Given the description of an element on the screen output the (x, y) to click on. 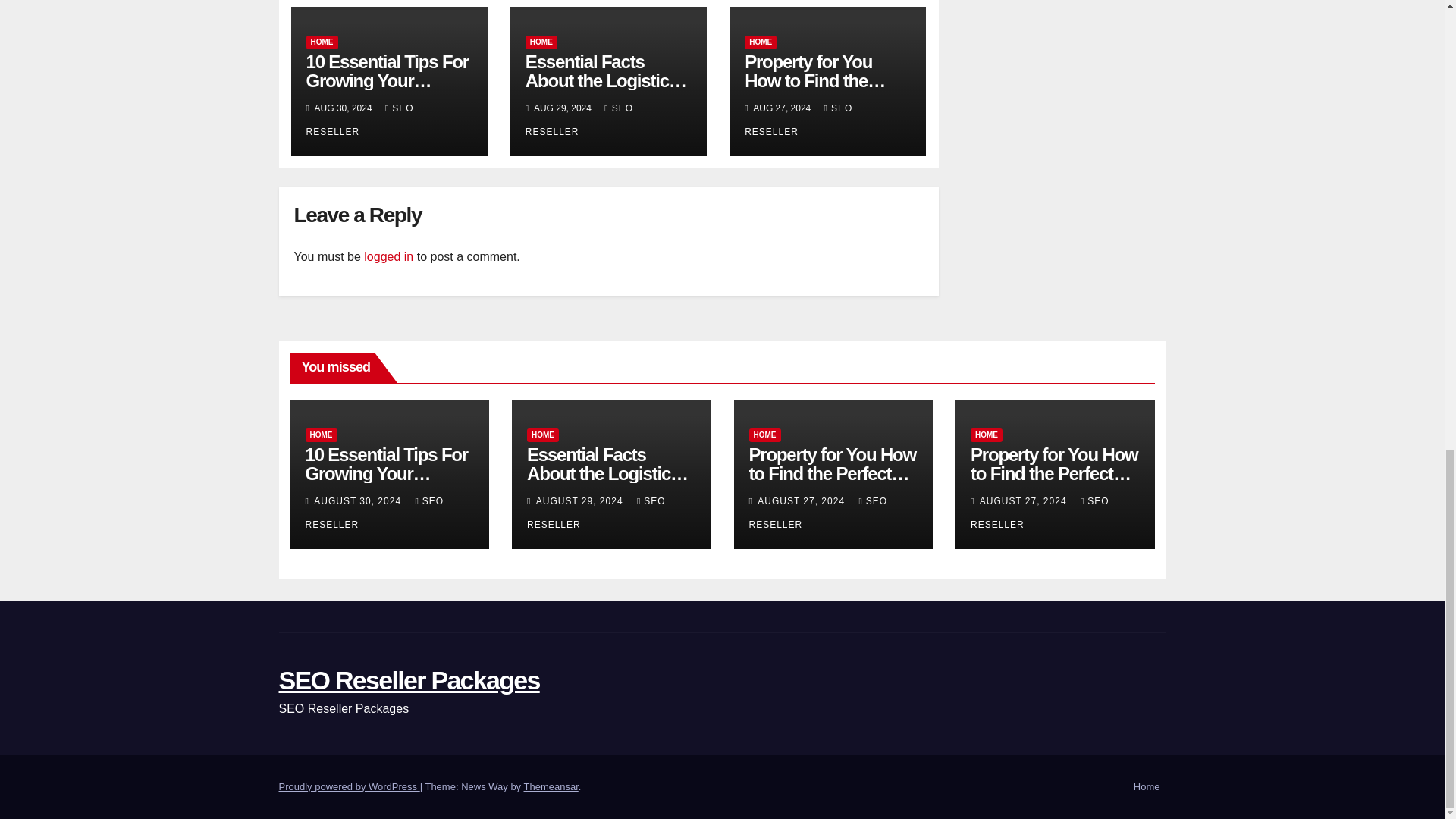
SEO RESELLER (797, 120)
HOME (320, 435)
AUGUST 30, 2024 (359, 501)
HOME (321, 42)
Home (1146, 786)
HOME (541, 42)
SEO RESELLER (579, 120)
Property for You How to Find the Perfect House Price a Lease (821, 89)
